Given the description of an element on the screen output the (x, y) to click on. 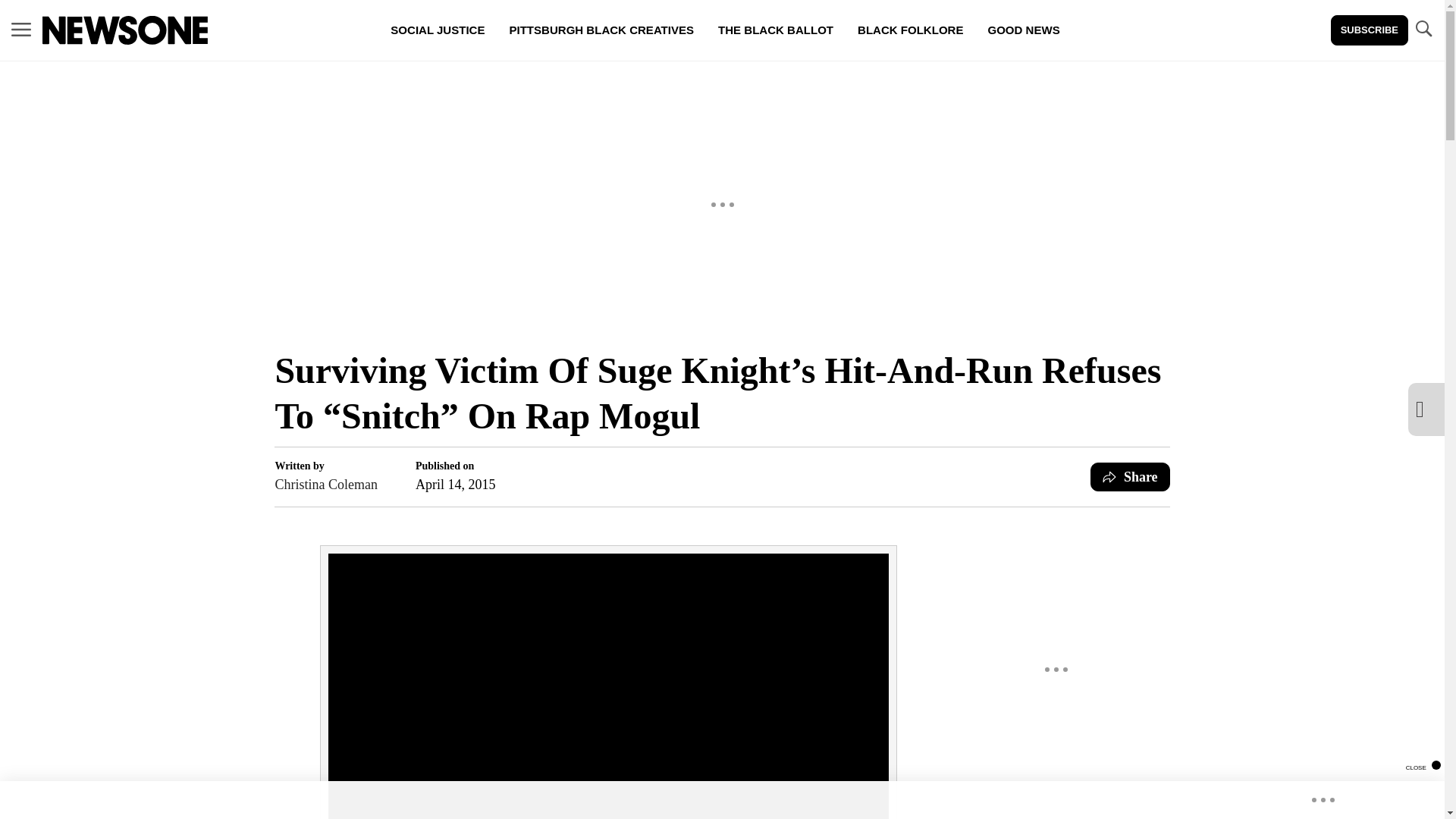
TOGGLE SEARCH (1422, 28)
PITTSBURGH BLACK CREATIVES (601, 30)
Christina Coleman (326, 484)
BLACK FOLKLORE (910, 30)
MENU (20, 29)
Share (1130, 476)
GOOD NEWS (1023, 30)
THE BLACK BALLOT (775, 30)
SOCIAL JUSTICE (437, 30)
SUBSCRIBE (1368, 30)
